Given the description of an element on the screen output the (x, y) to click on. 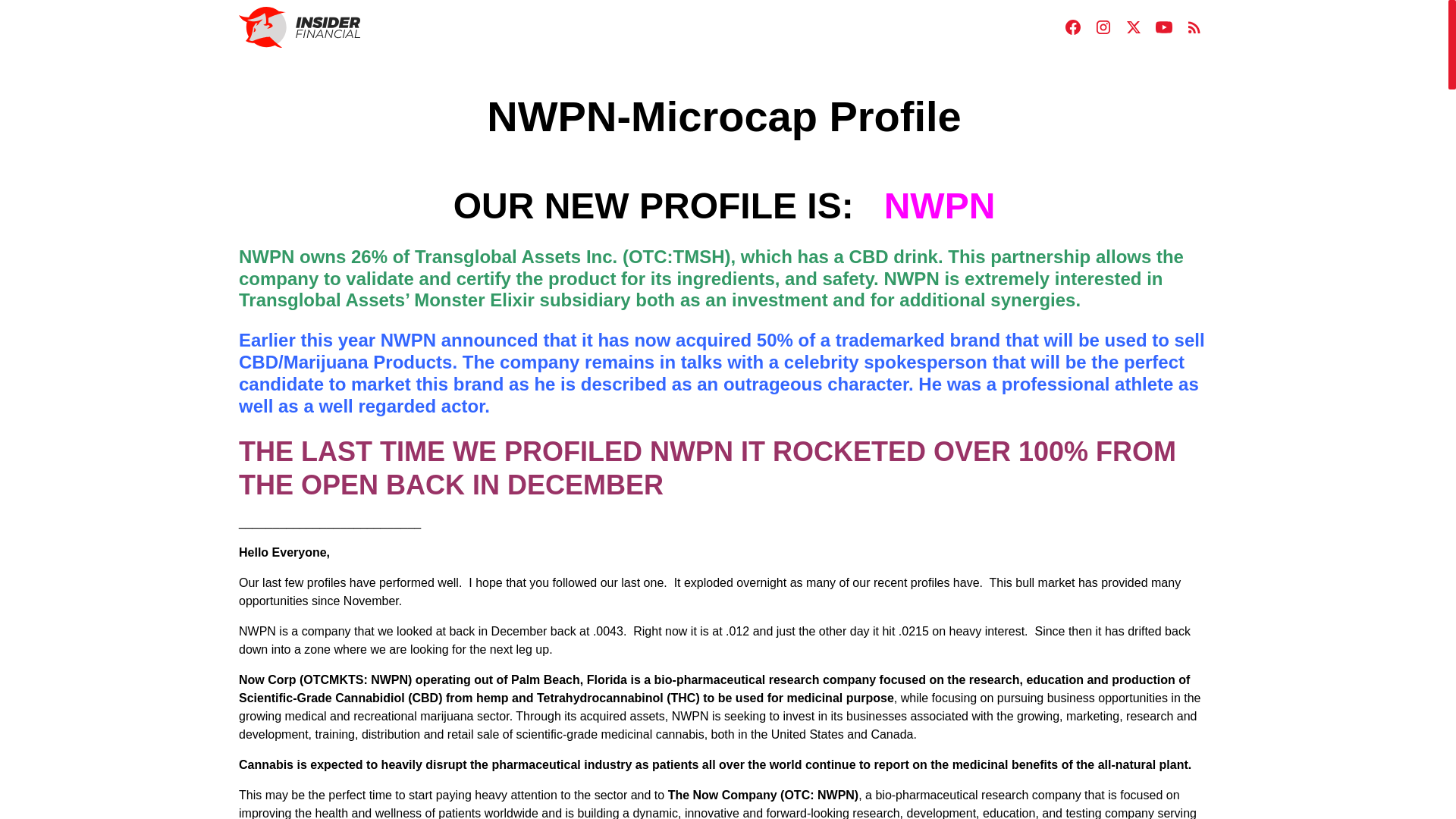
Youtube (1163, 27)
Instagram (1102, 27)
RSS Feed (1194, 27)
Facebook (1072, 27)
